Given the description of an element on the screen output the (x, y) to click on. 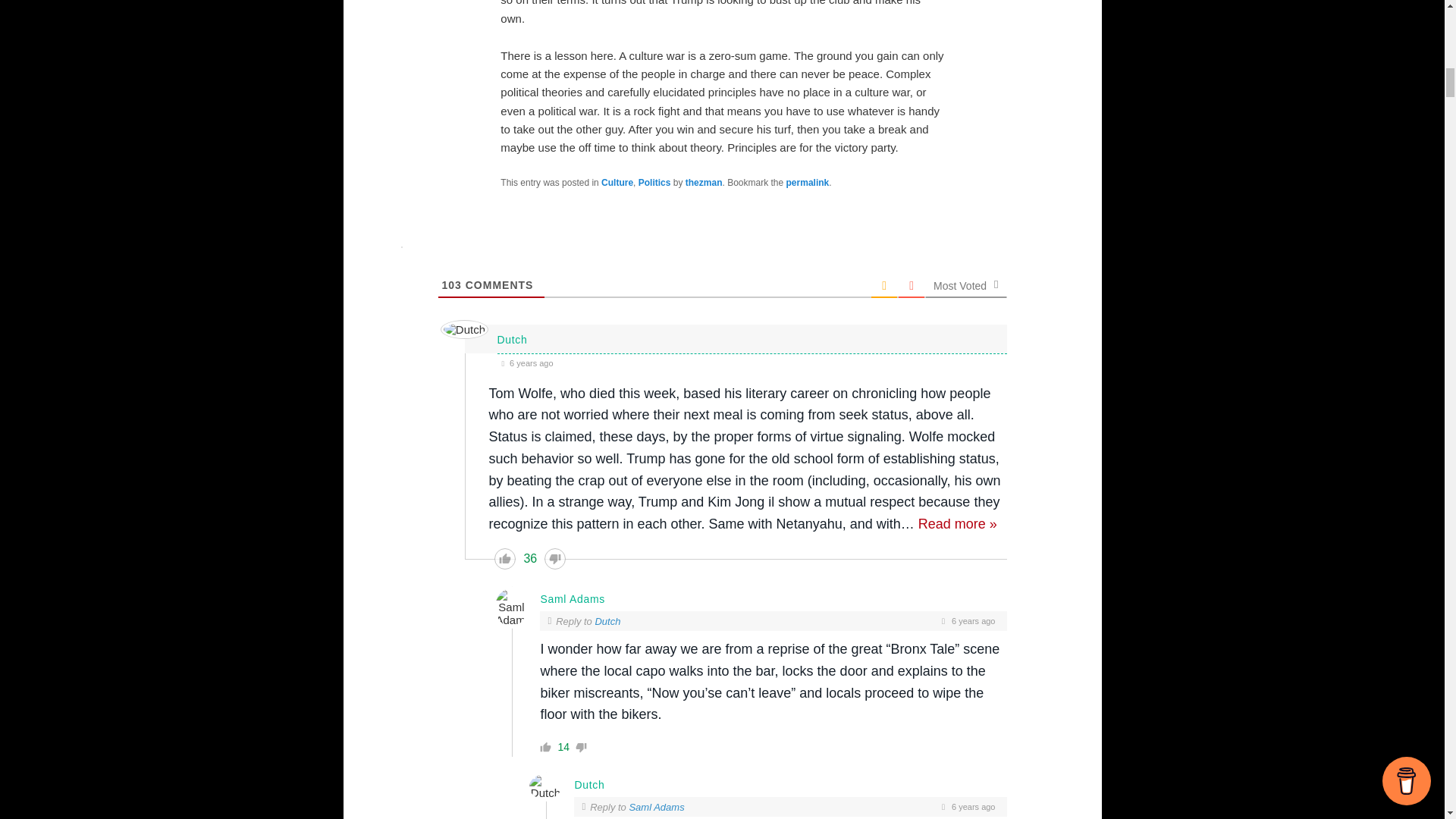
permalink (807, 182)
36 (529, 558)
Dutch (607, 621)
Saml Adams (656, 807)
May 16, 2018 9:56 am (751, 361)
thezman (703, 182)
103 (451, 285)
Culture (617, 182)
Politics (655, 182)
Permalink to The Rock Fight (807, 182)
